Given the description of an element on the screen output the (x, y) to click on. 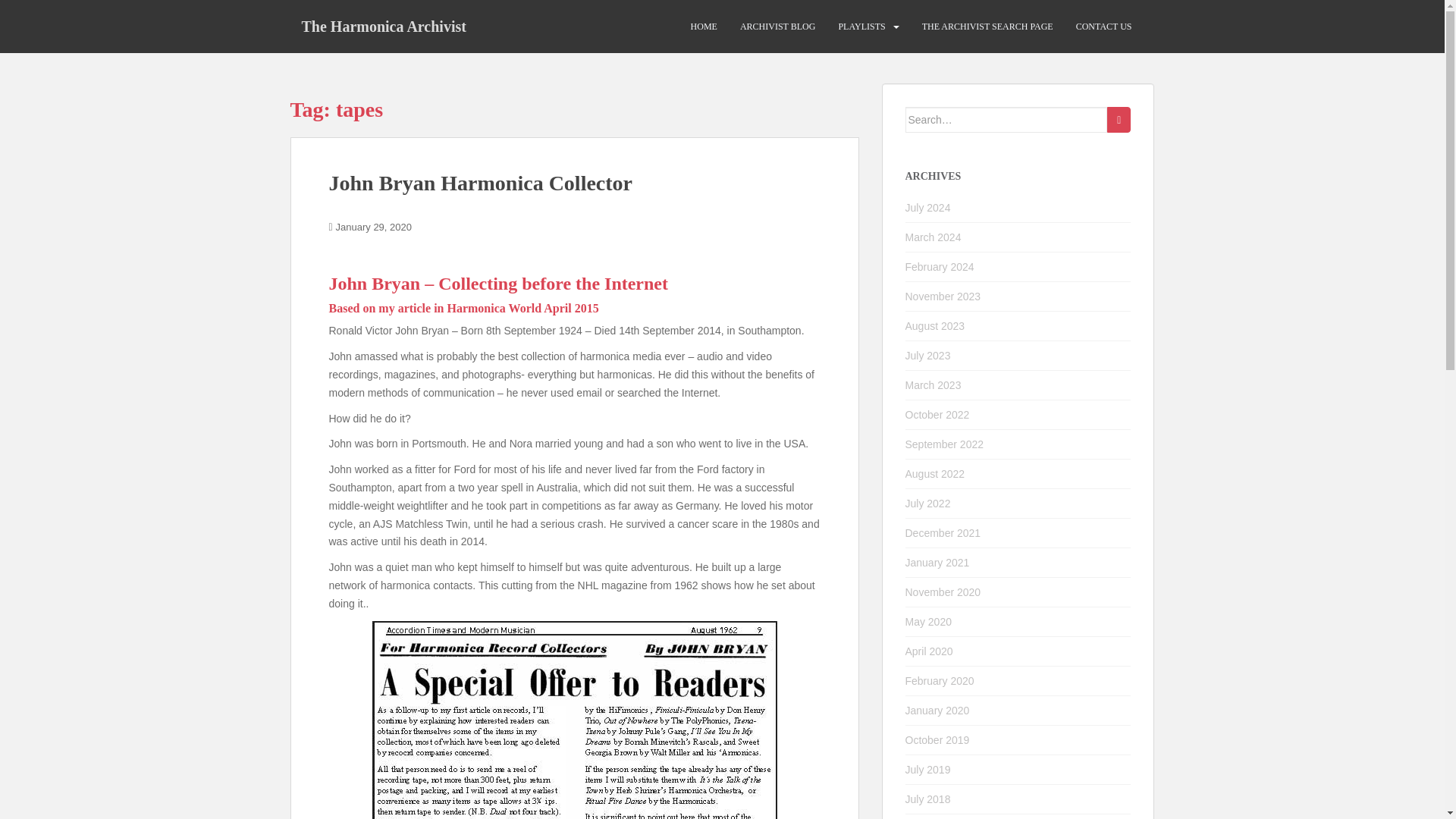
January 29, 2020 (374, 226)
The Harmonica Archivist (383, 26)
July 2018 (927, 799)
John Bryan Harmonica Collector (481, 182)
July 2019 (927, 769)
December 2021 (943, 532)
November 2023 (943, 296)
CONTACT US (1103, 26)
The Harmonica Archivist (383, 26)
THE ARCHIVIST SEARCH PAGE (986, 26)
February 2020 (939, 680)
November 2020 (943, 592)
Search (1118, 119)
July 2022 (927, 503)
July 2024 (927, 207)
